Given the description of an element on the screen output the (x, y) to click on. 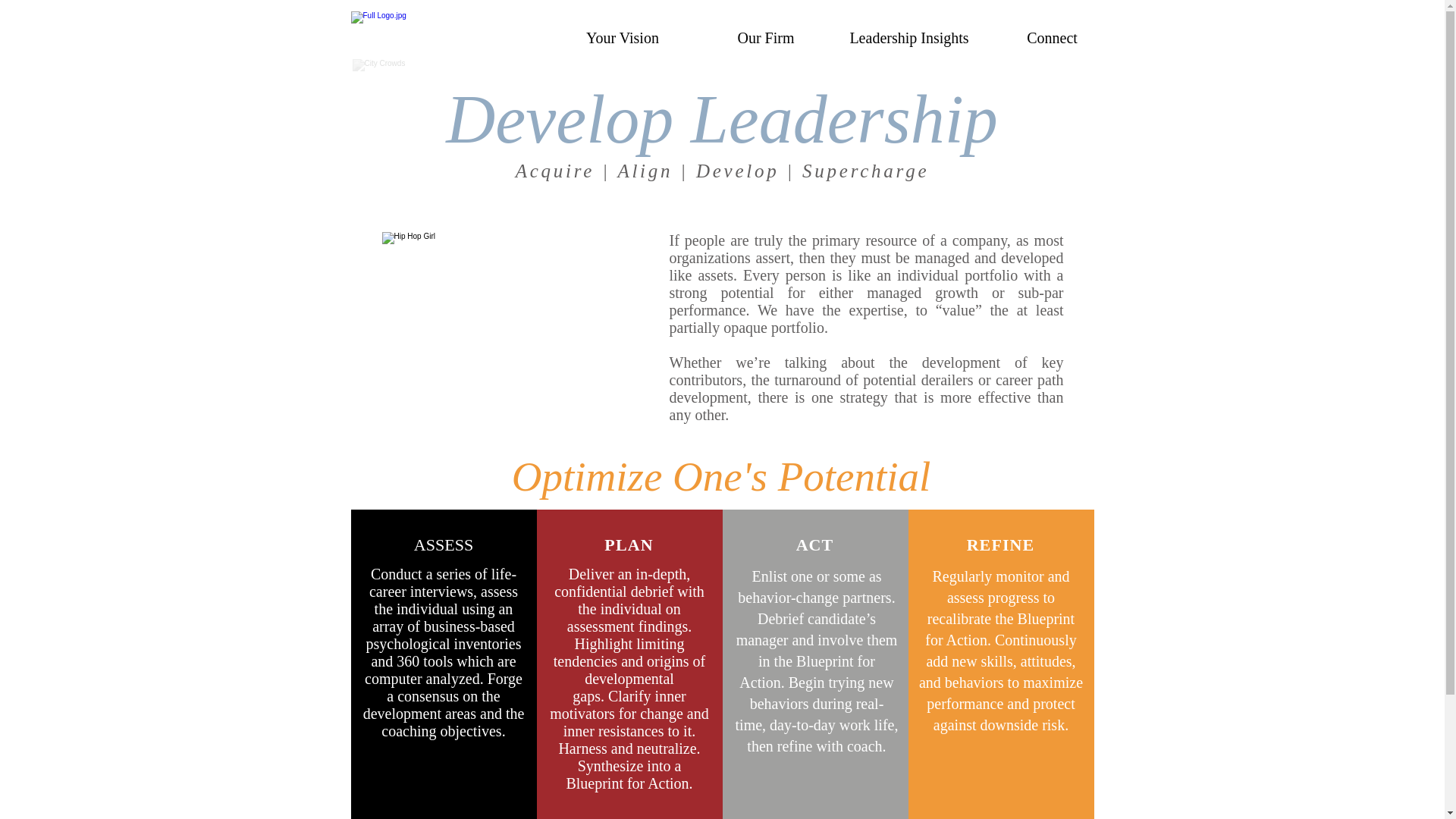
Develop (736, 170)
Leadership Insights (908, 37)
Connect (1052, 37)
Acquire (554, 169)
Our Firm (766, 37)
Align (644, 170)
Supercharge (865, 170)
Your Vision (622, 37)
